Given the description of an element on the screen output the (x, y) to click on. 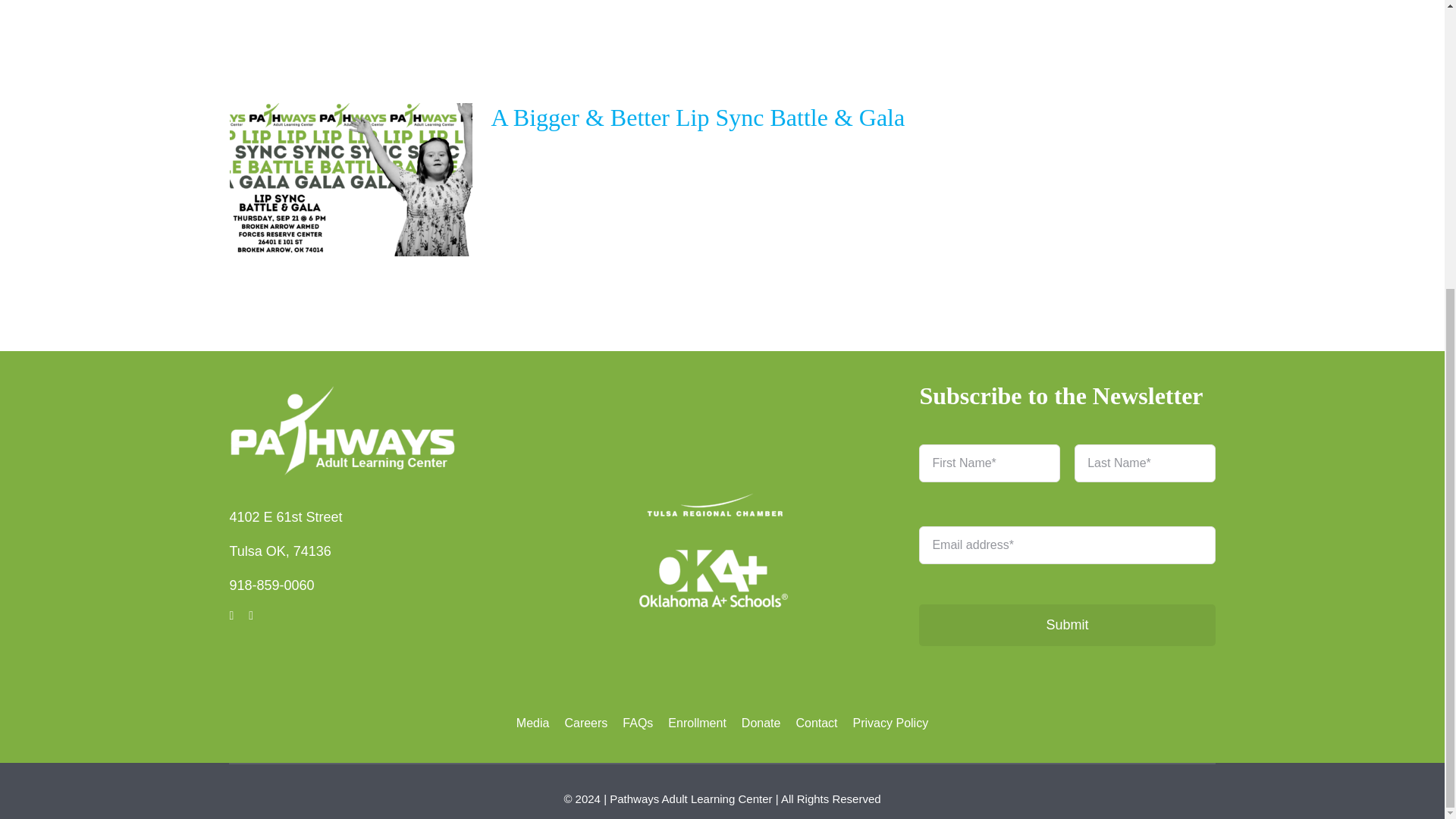
918-859-0060 (271, 585)
Submit (1066, 544)
